Given the description of an element on the screen output the (x, y) to click on. 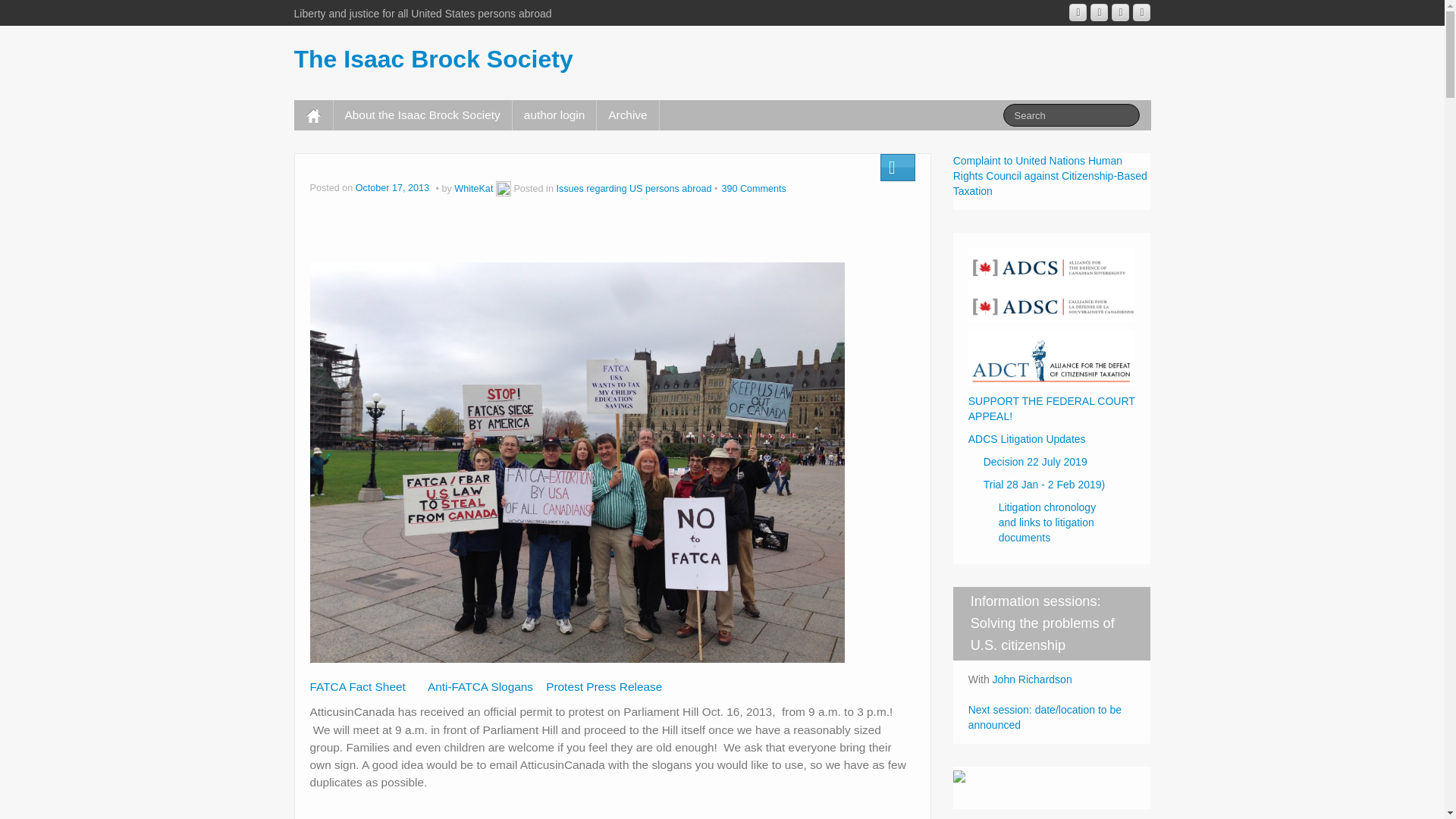
ADCT (1051, 357)
View all posts by WhiteKat (473, 188)
Issues regarding US persons abroad (633, 188)
The Isaac Brock Society (433, 58)
October 17, 2013 (393, 188)
About the Isaac Brock Society (422, 114)
WhiteKat (473, 188)
author login (553, 114)
390 Comments (753, 188)
The Isaac Brock Society Vimeo (1120, 12)
